Given the description of an element on the screen output the (x, y) to click on. 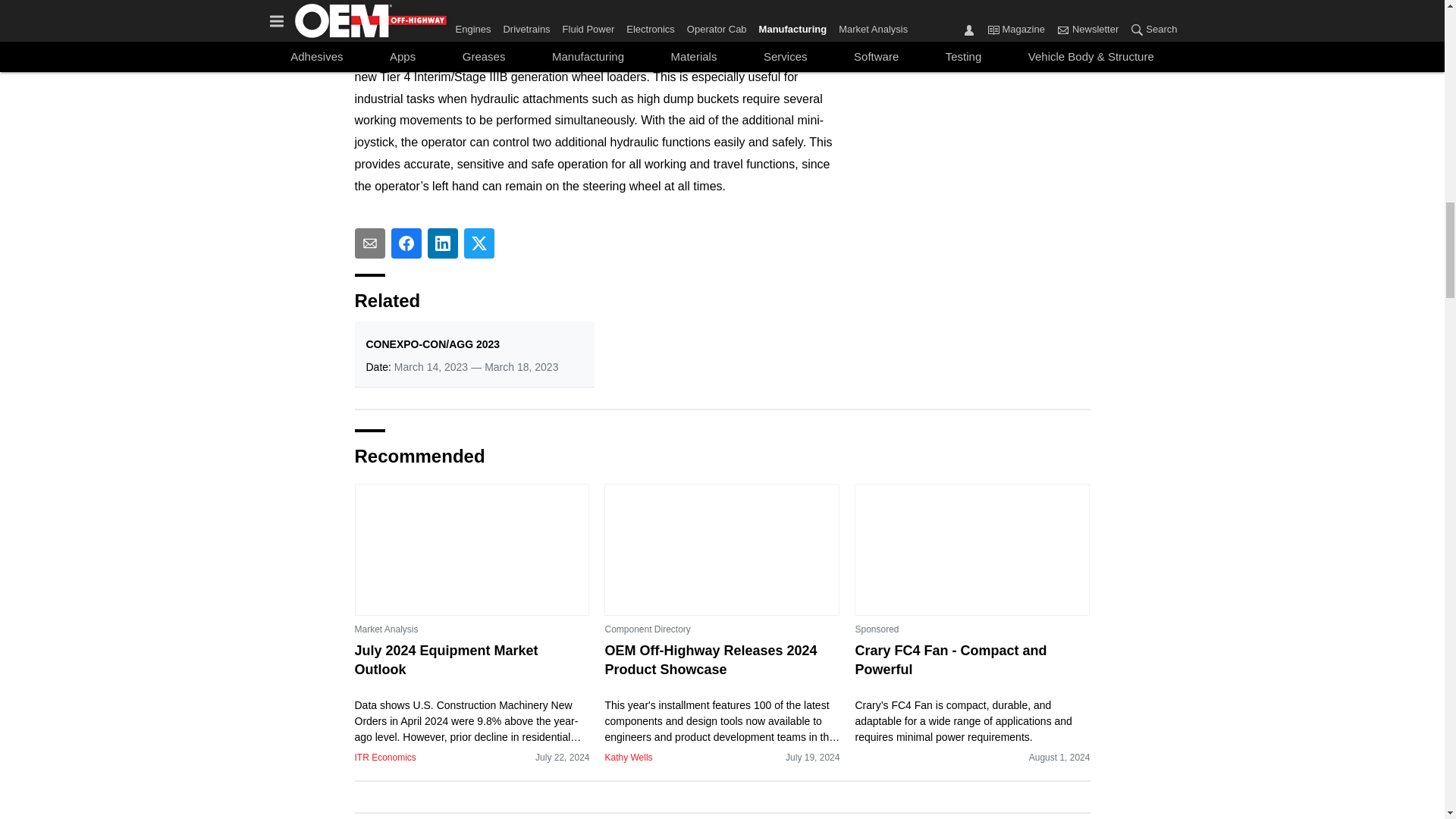
Share To email (370, 243)
Share To facebook (406, 243)
Share To linkedin (443, 243)
Share To twitter (479, 243)
